Given the description of an element on the screen output the (x, y) to click on. 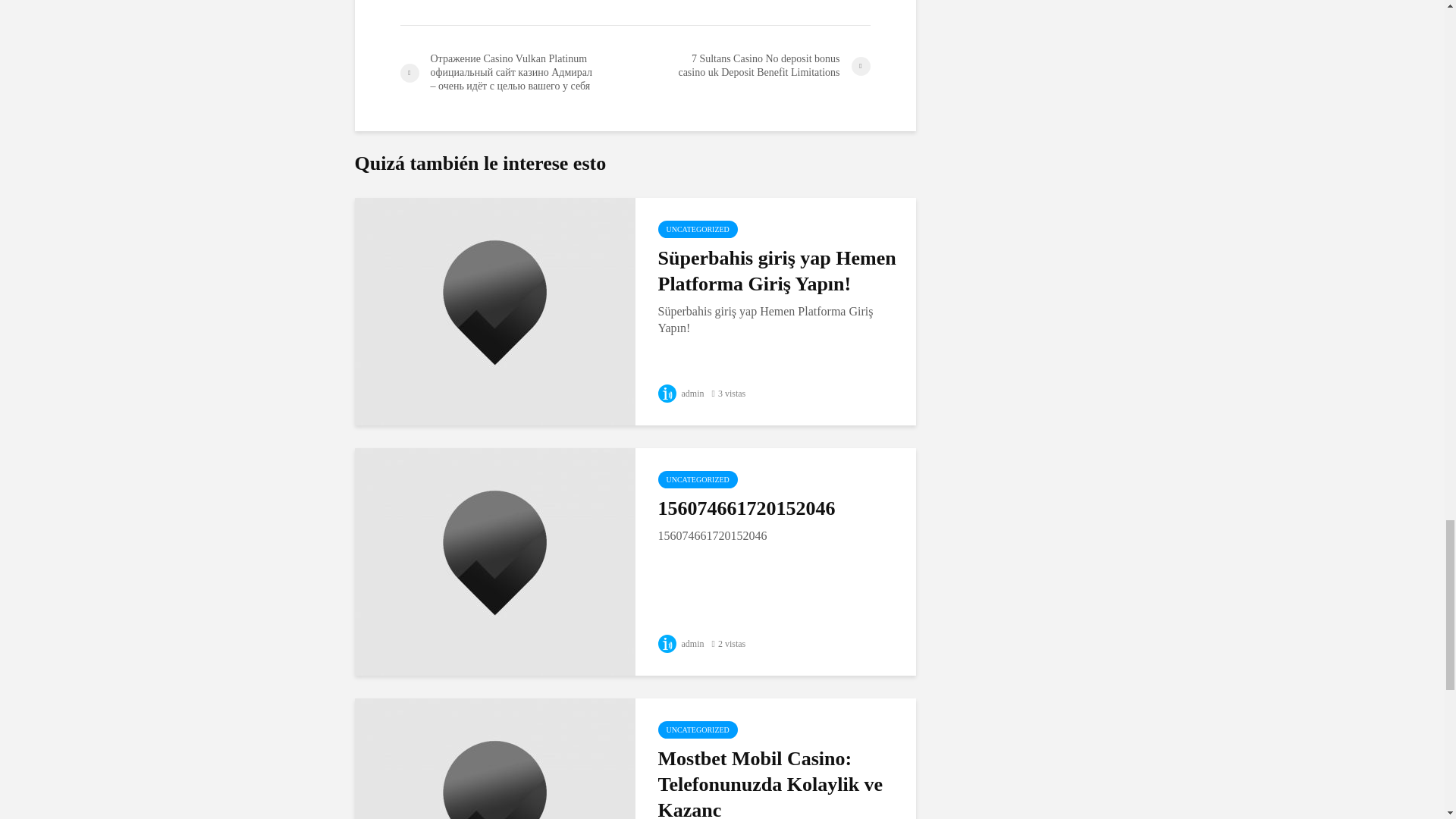
Mostbet Mobil Casino: Telefonunuzda Kolaylik ve Kazanc (494, 810)
156074661720152046 (494, 560)
